Given the description of an element on the screen output the (x, y) to click on. 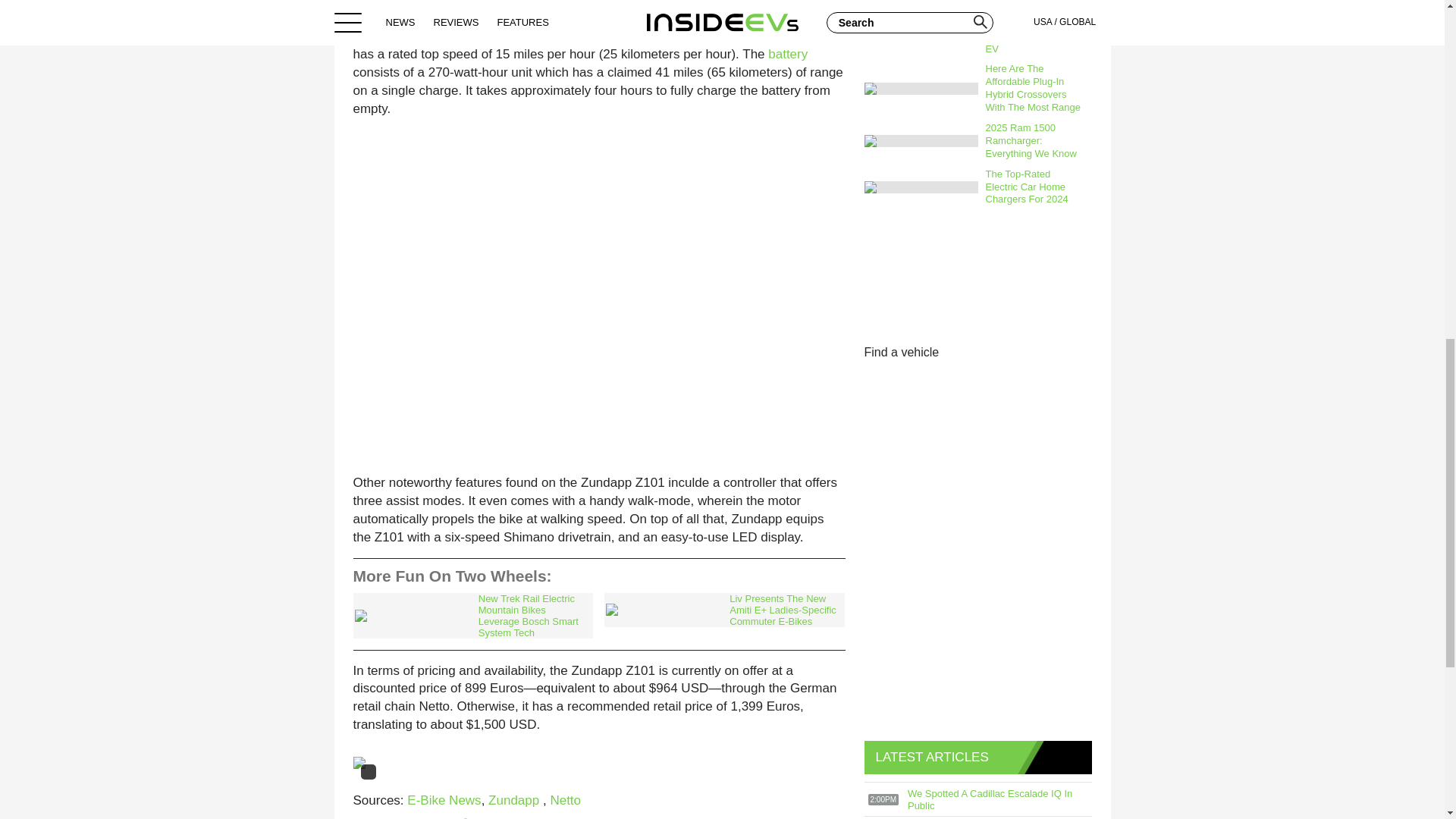
Join the conversation (415, 818)
Zundapp (515, 800)
battery (788, 53)
E-Bike News (443, 800)
Netto (565, 800)
